Given the description of an element on the screen output the (x, y) to click on. 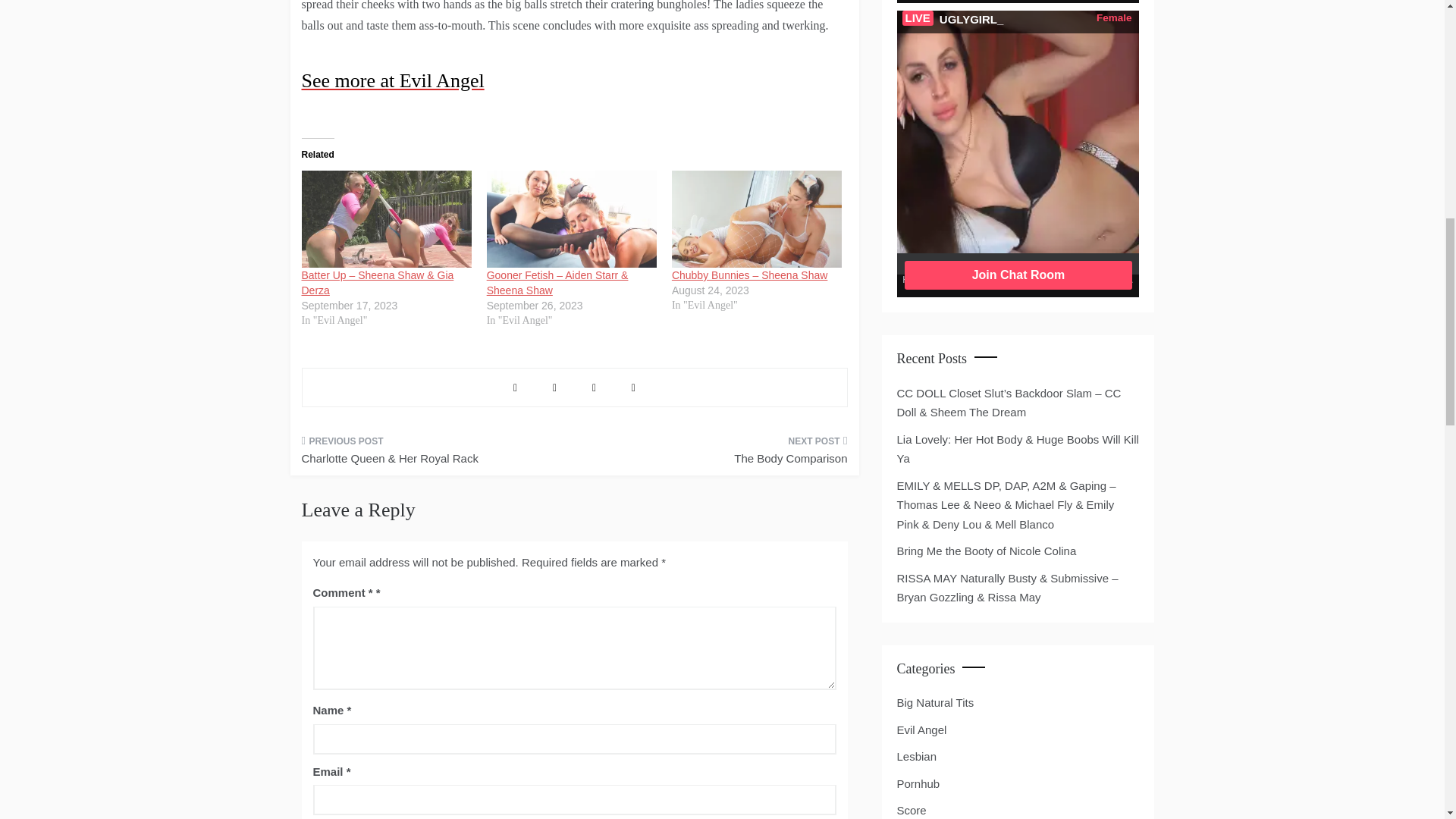
The Body Comparison (716, 454)
Evil Angel (921, 730)
Big Natural Tits (935, 702)
Lesbian (916, 756)
Pornhub (917, 783)
See more at Evil Angel (574, 80)
Score (911, 809)
Bring Me the Booty of Nicole Colina (985, 550)
